Given the description of an element on the screen output the (x, y) to click on. 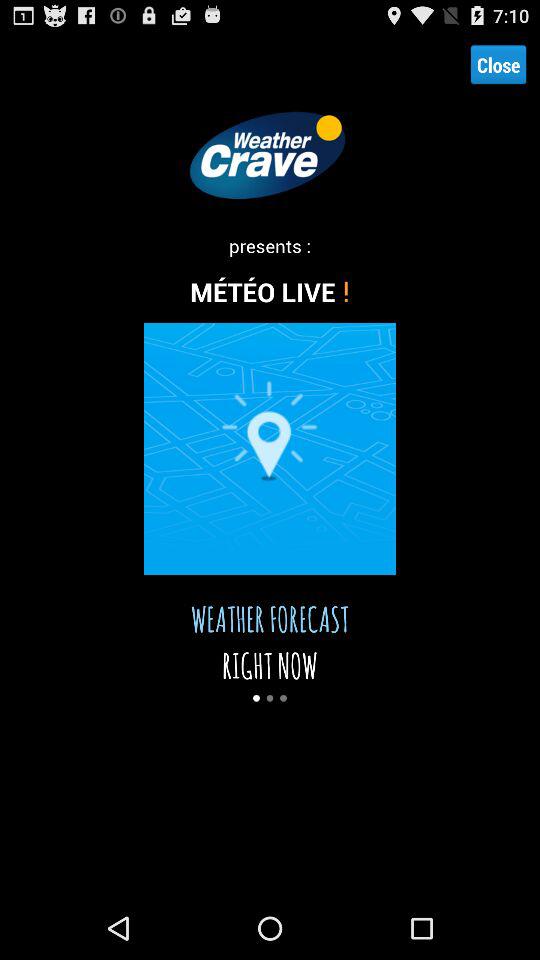
press icon at the top right corner (498, 64)
